Given the description of an element on the screen output the (x, y) to click on. 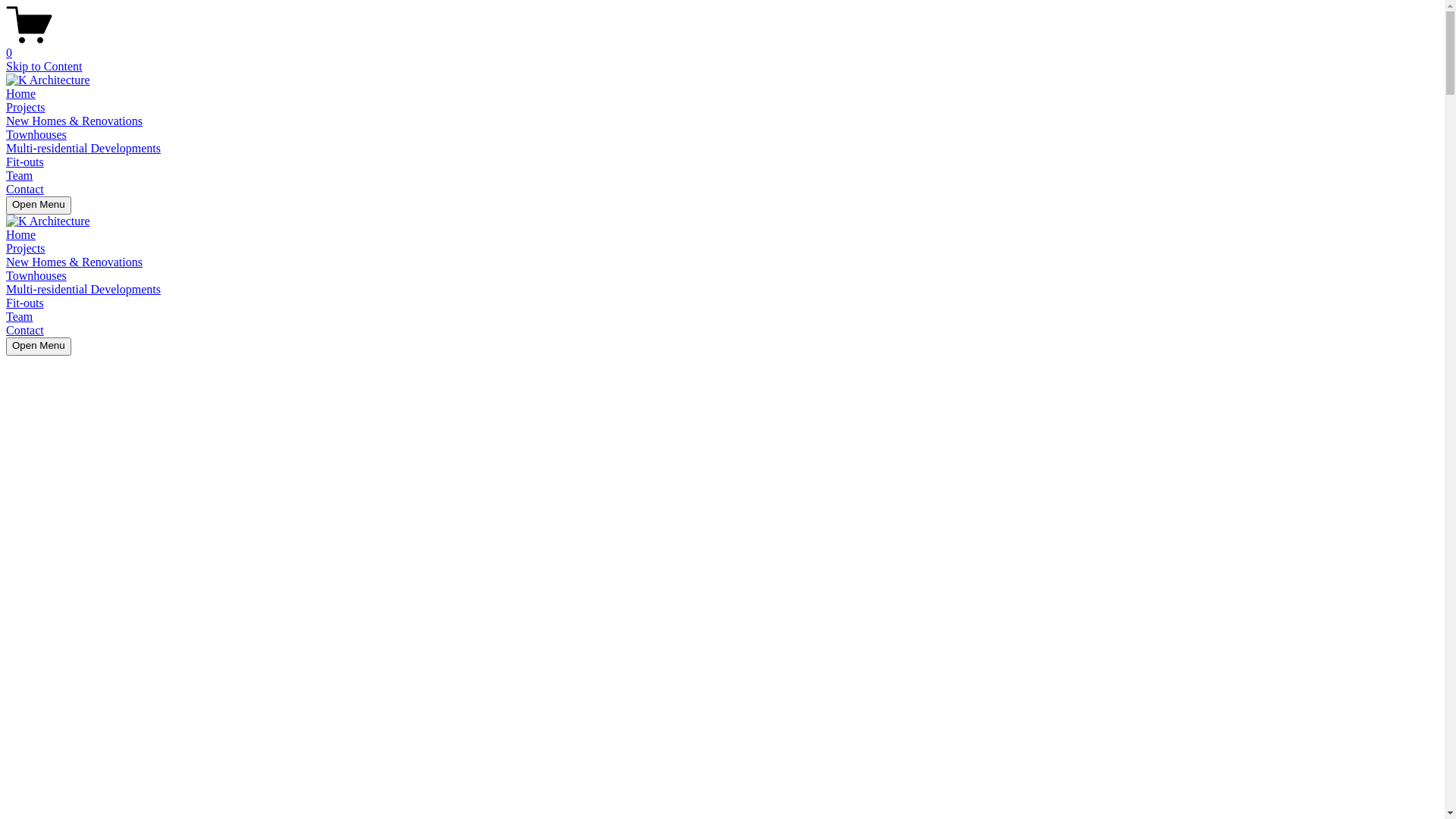
Fit-outs Element type: text (24, 302)
Home Element type: text (20, 93)
Multi-residential Developments Element type: text (83, 288)
Contact Element type: text (24, 329)
Team Element type: text (19, 316)
New Homes & Renovations Element type: text (74, 261)
Contact Element type: text (24, 188)
New Homes & Renovations Element type: text (74, 120)
Open Menu Element type: text (38, 205)
Fit-outs Element type: text (24, 161)
Home Element type: text (20, 234)
Multi-residential Developments Element type: text (83, 147)
Townhouses Element type: text (36, 275)
Townhouses Element type: text (36, 134)
Projects Element type: text (25, 106)
Team Element type: text (19, 175)
Skip to Content Element type: text (43, 65)
0 Element type: text (722, 45)
Open Menu Element type: text (38, 346)
Projects Element type: text (25, 247)
